Given the description of an element on the screen output the (x, y) to click on. 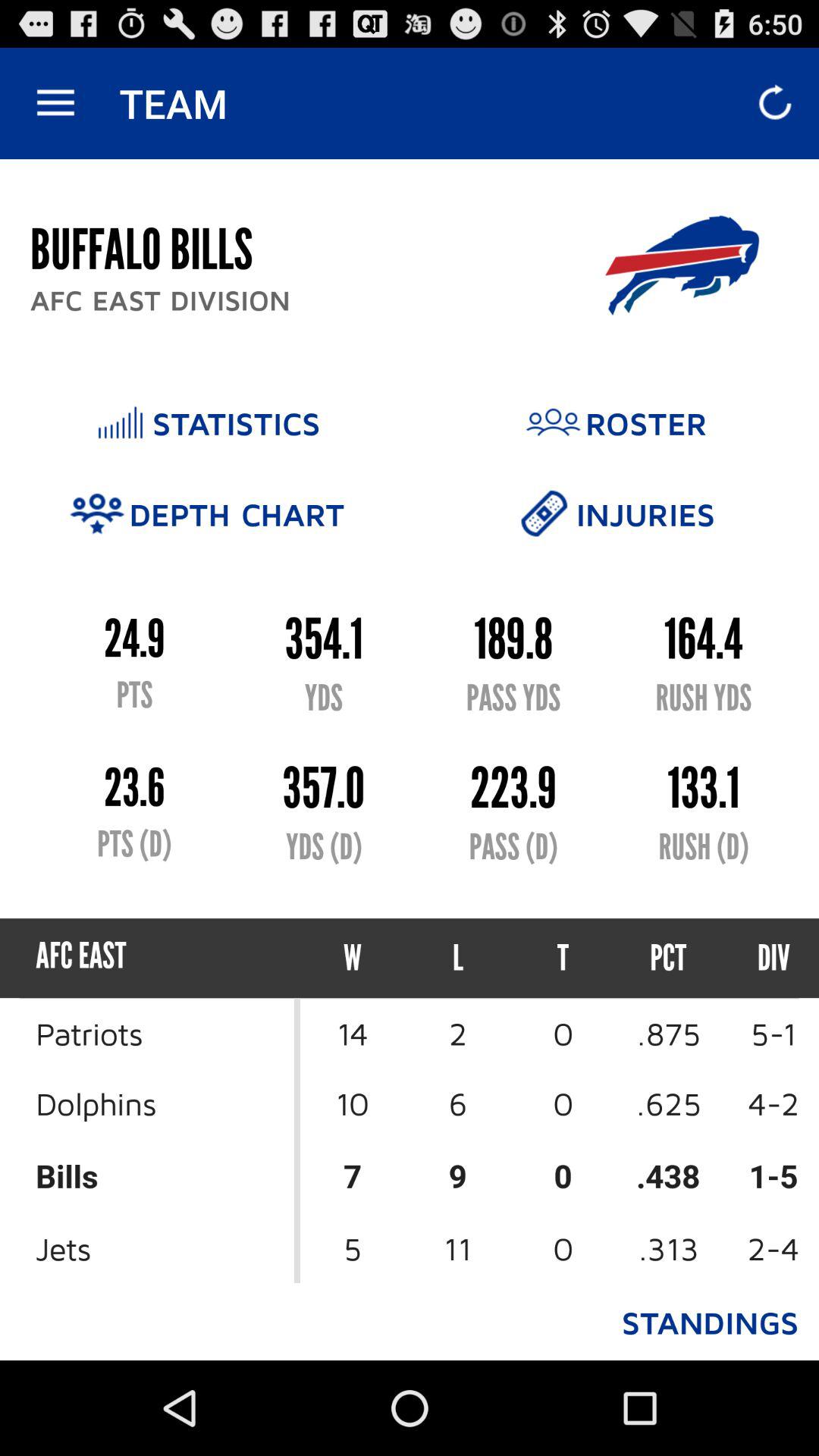
click item next to l icon (352, 958)
